Given the description of an element on the screen output the (x, y) to click on. 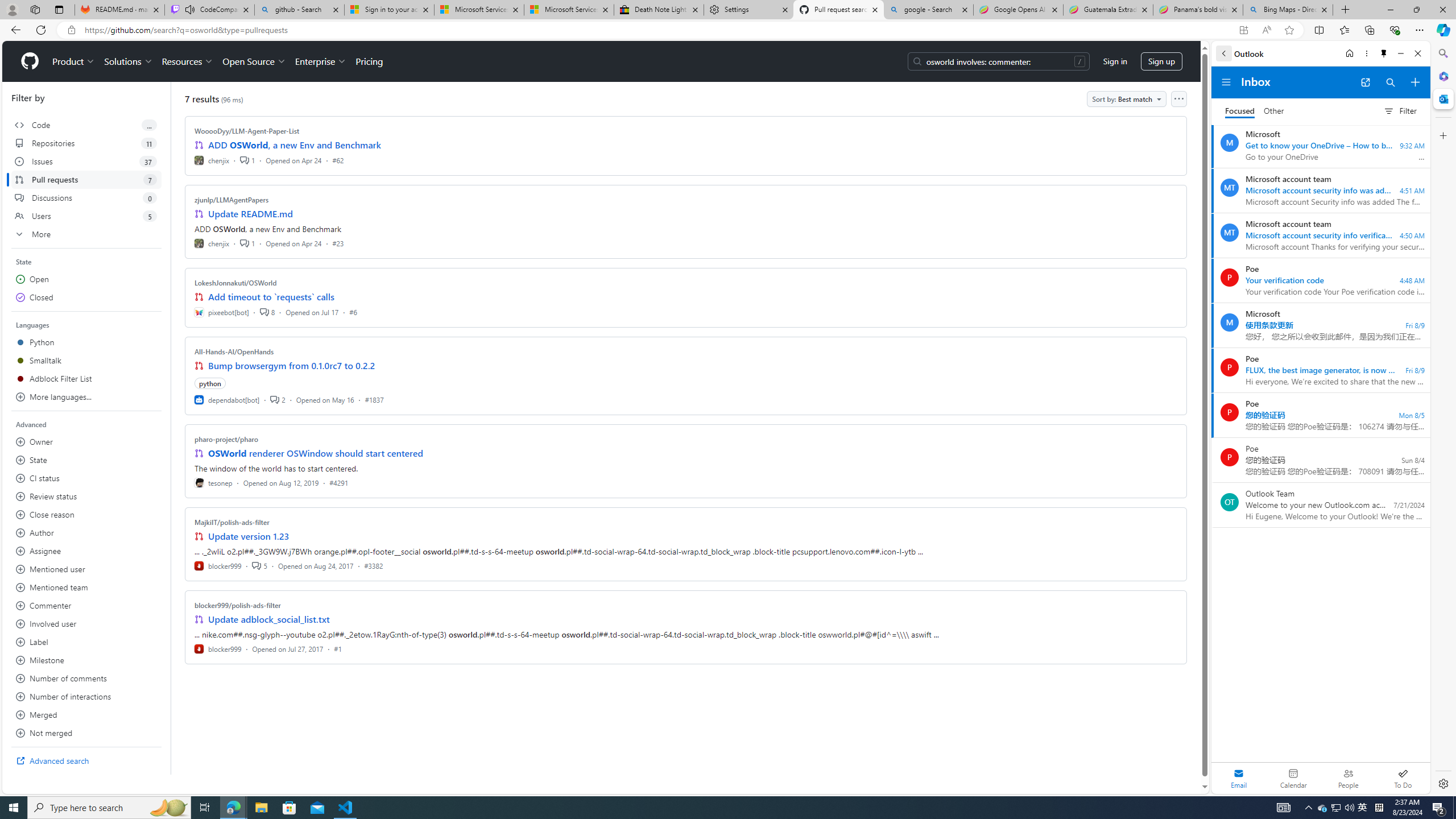
App available. Install GitHub (1243, 29)
Solutions (128, 60)
Compose new mail (1414, 82)
dependabot[bot] (227, 398)
